Given the description of an element on the screen output the (x, y) to click on. 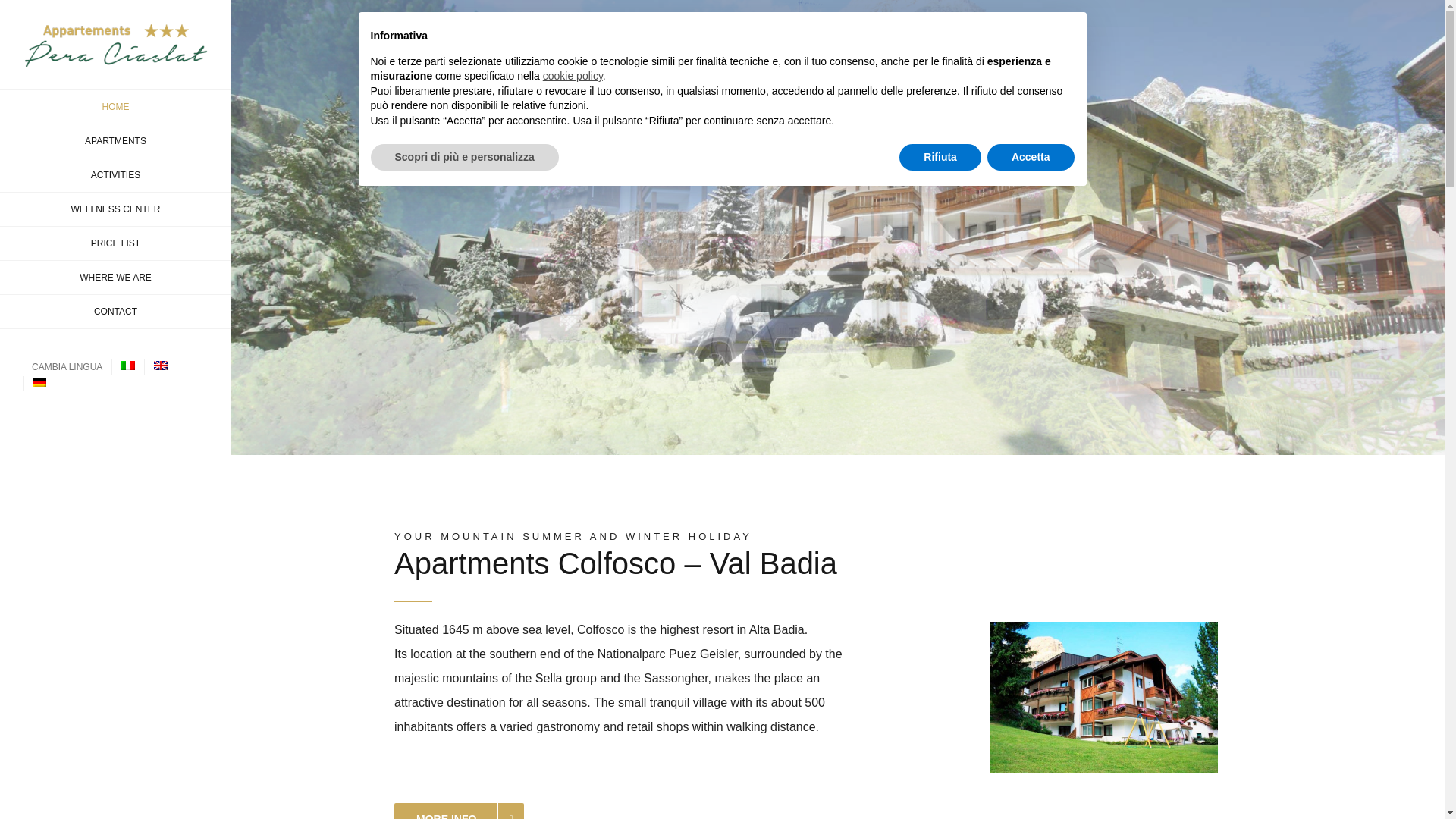
HOME (115, 106)
Contatti per appartamenti Val Badia (115, 311)
ACTIVITIES (115, 175)
PRICE LIST (115, 243)
WHERE WE ARE (115, 277)
Come raggiungere gli appartamenti (115, 277)
Italiano (127, 365)
WELLNESS CENTER (115, 209)
Listino Prezzi Estate Inverno Appartamenti (115, 243)
CONTACT (115, 311)
APARTMENTS (115, 141)
